Given the description of an element on the screen output the (x, y) to click on. 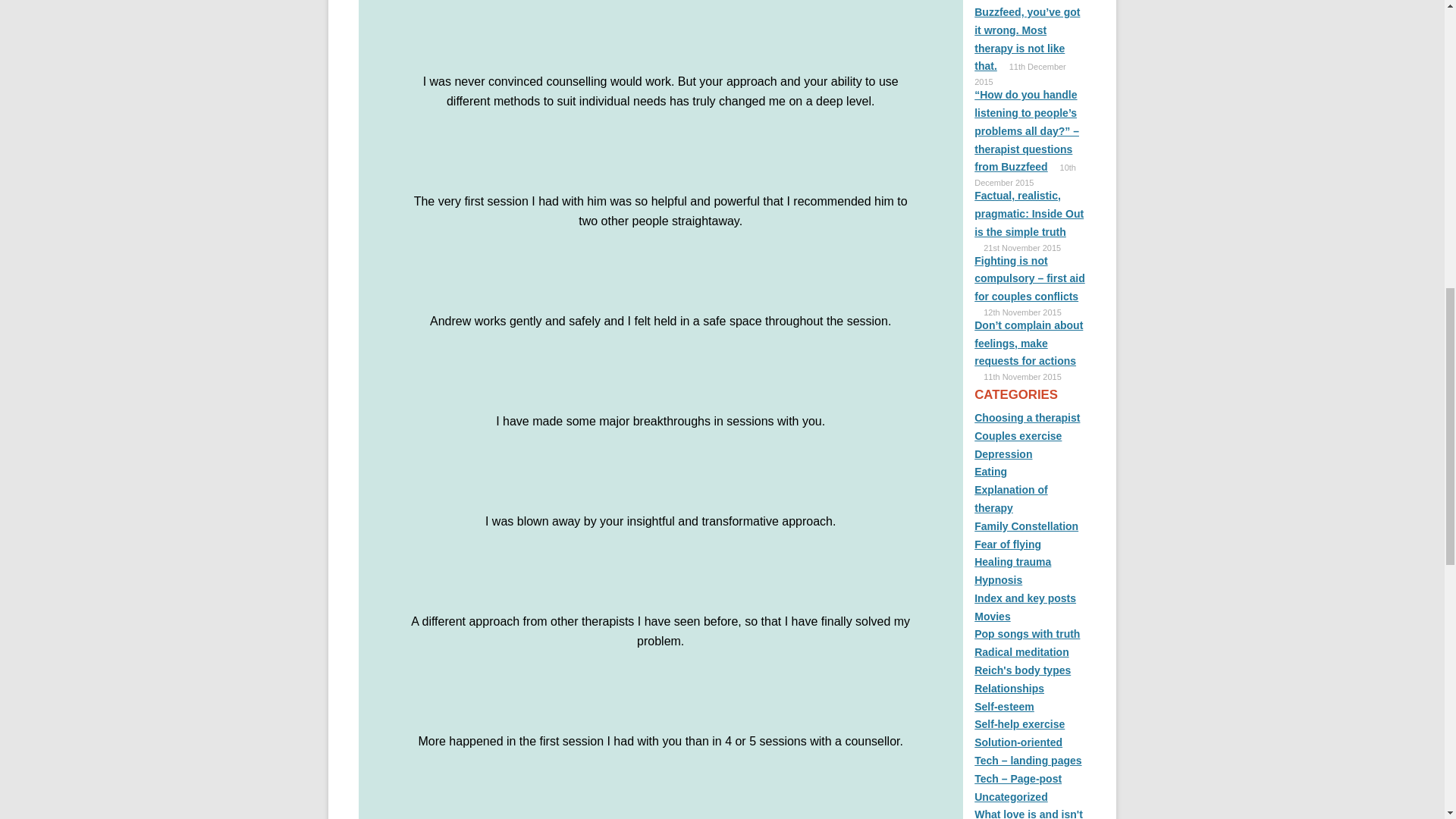
Couples exercise (1017, 435)
Eating (990, 471)
Choosing a therapist (1027, 417)
Depression (1003, 453)
Healing trauma (1012, 562)
Explanation of therapy (1010, 499)
Family Constellation (1026, 526)
Fear of flying (1007, 544)
